Given the description of an element on the screen output the (x, y) to click on. 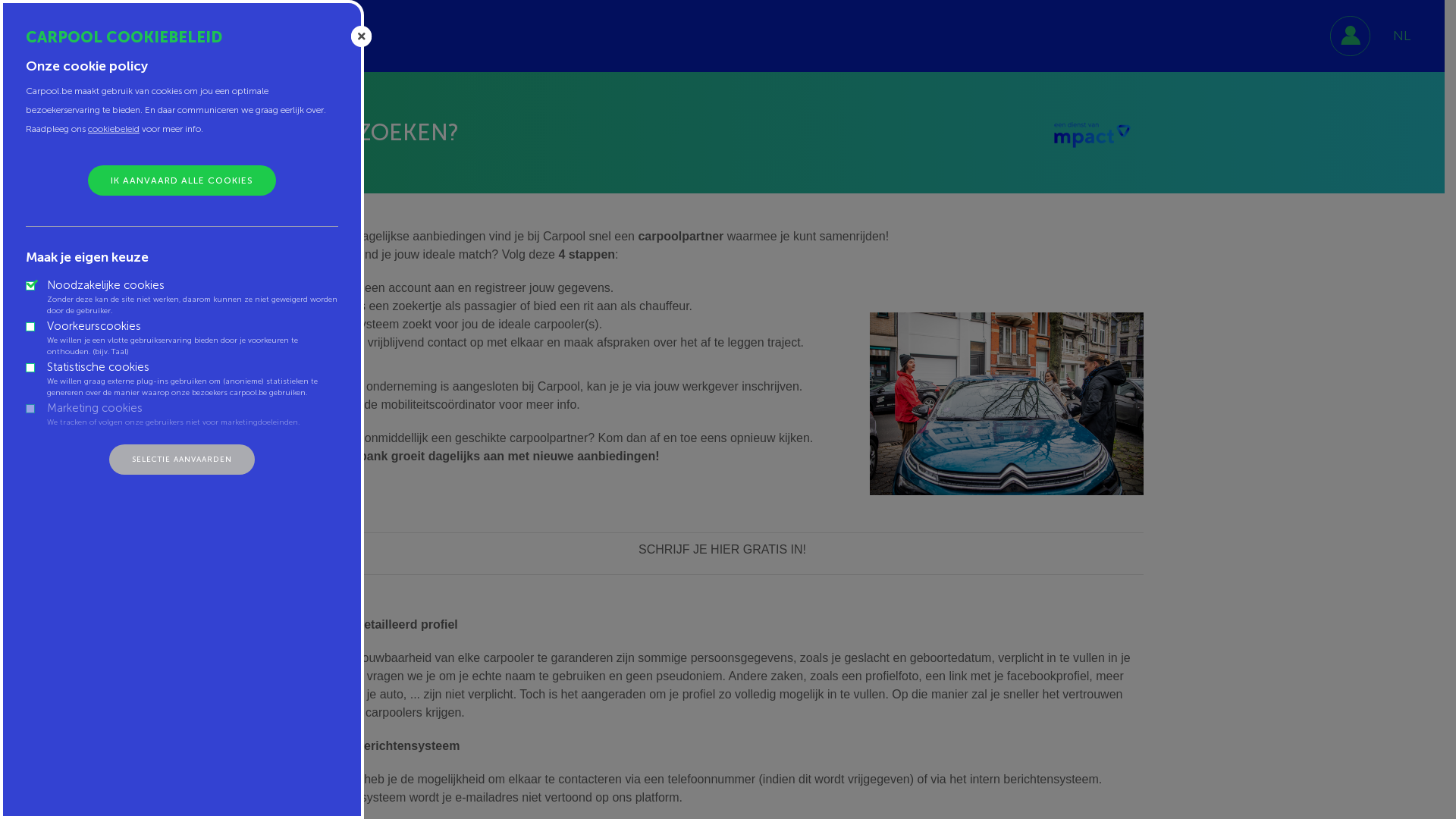
cookiebeleid Element type: text (113, 128)
SCHRIJF JE HIER GRATIS IN! Element type: text (722, 548)
IK AANVAARD ALLE COOKIES Element type: text (181, 180)
SELECTIE AANVAARDEN Element type: text (181, 459)
NL Element type: text (1401, 35)
